Given the description of an element on the screen output the (x, y) to click on. 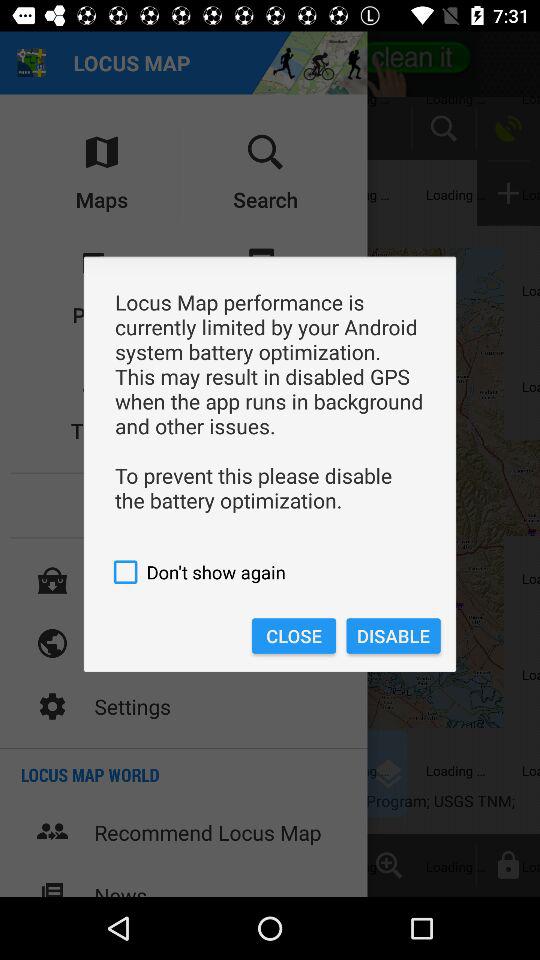
turn on the disable (393, 635)
